Given the description of an element on the screen output the (x, y) to click on. 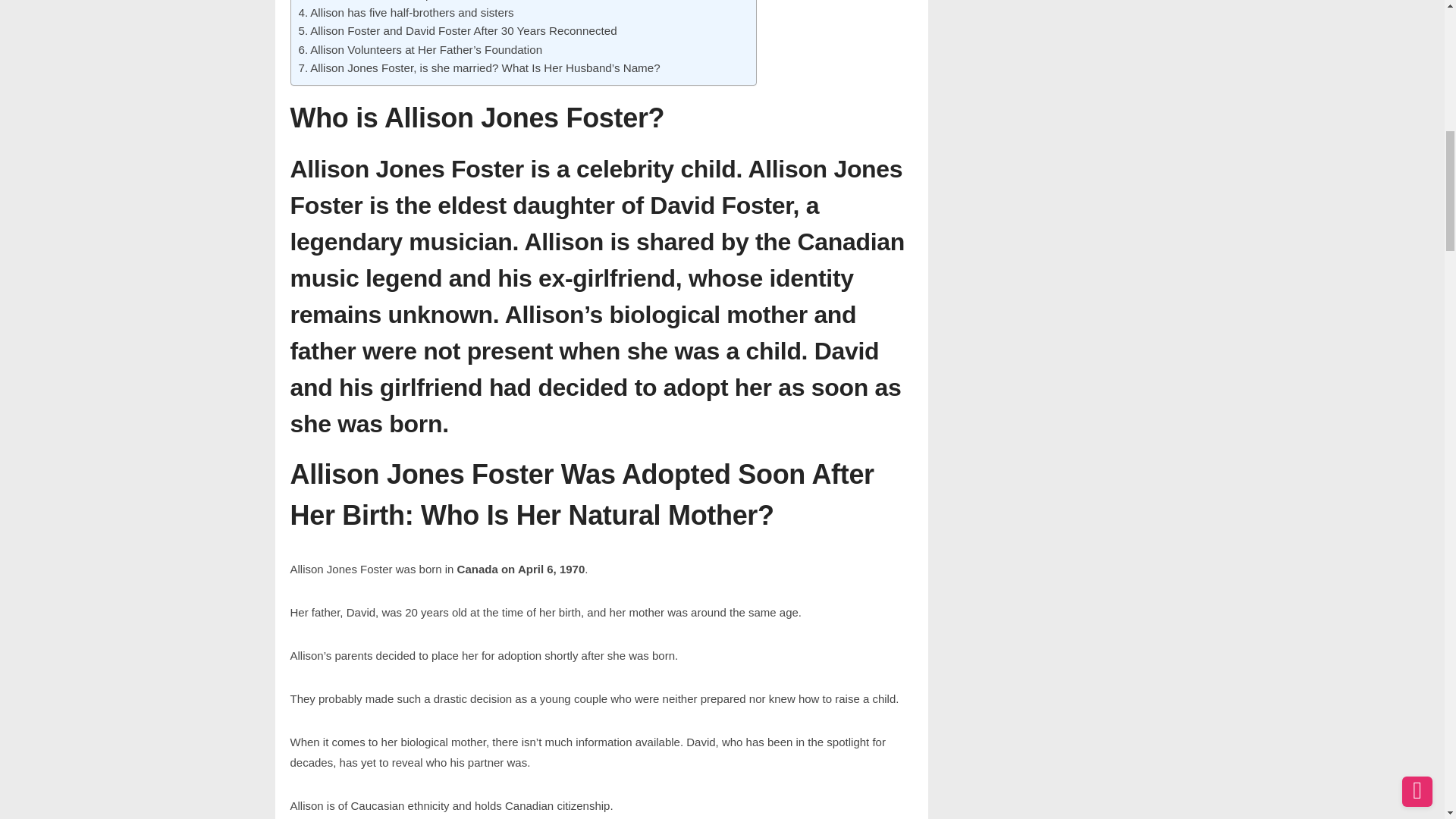
Allison Foster and David Foster After 30 Years Reconnected (457, 31)
Allison has five half-brothers and sisters (405, 13)
Allison has five half-brothers and sisters (405, 13)
Allison Foster and David Foster After 30 Years Reconnected (457, 31)
